Given the description of an element on the screen output the (x, y) to click on. 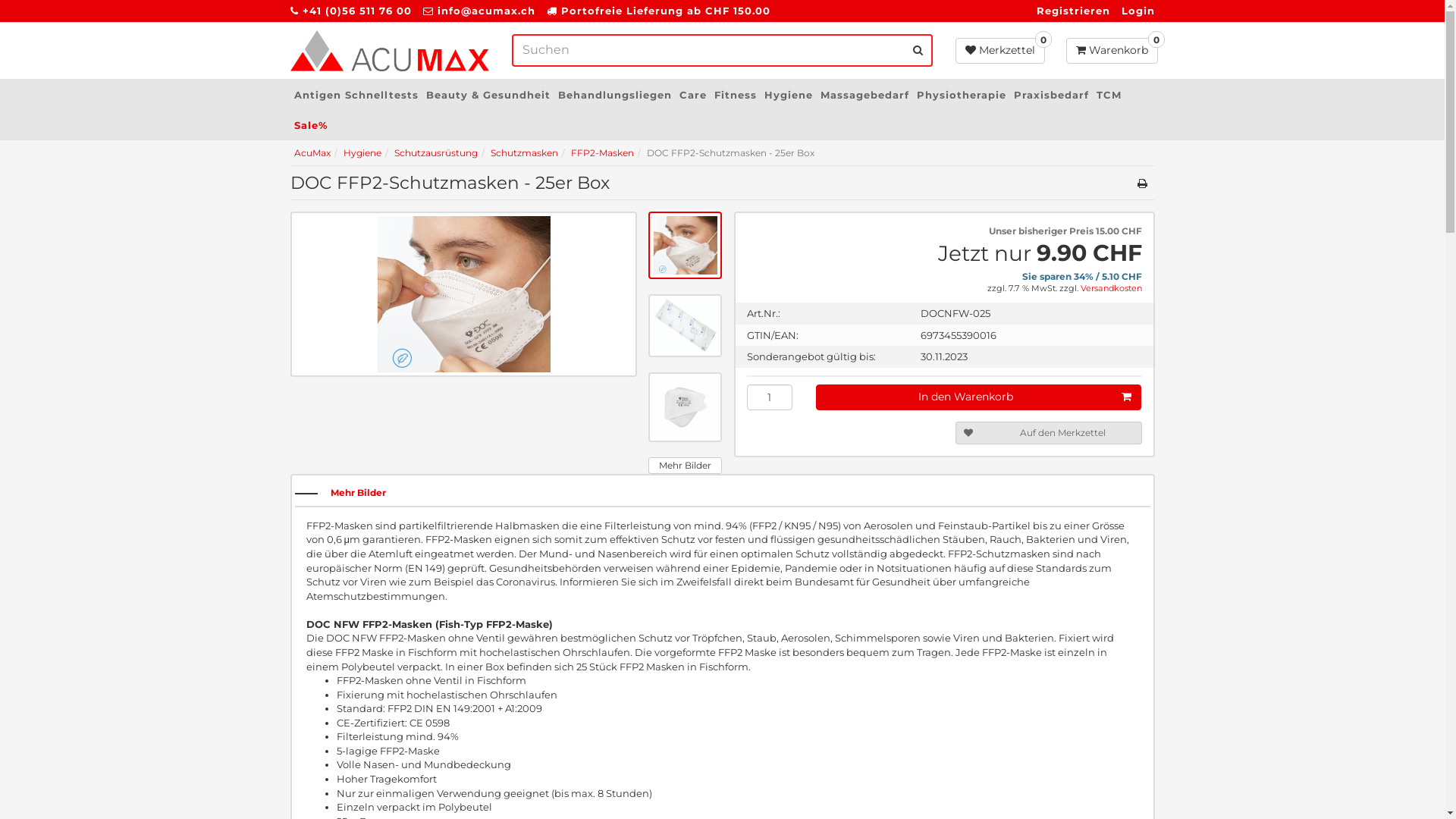
Praxisbedarf Element type: text (1051, 94)
Behandlungsliegen Element type: text (613, 94)
DOC FFP2-Schutzmasken - 25er Box Element type: hover (462, 293)
0
Warenkorb Element type: text (1111, 50)
Antigen Schnelltests Element type: text (355, 94)
DOC FFP2-Schutzmasken - 25er Box Element type: hover (685, 325)
Hygiene Element type: text (787, 94)
Versandkosten Element type: text (1110, 287)
Mehr Bilder Element type: text (357, 492)
Beauty & Gesundheit Element type: text (487, 94)
Massagebedarf Element type: text (863, 94)
TCM Element type: text (1108, 94)
Merkzettel
0 Element type: text (999, 50)
Care Element type: text (691, 94)
FFP2-Masken Element type: text (601, 152)
Registrieren Element type: text (1072, 10)
Mehr Bilder Element type: text (685, 465)
Schutzmasken Element type: text (523, 152)
Auf den Merkzettel Element type: text (1048, 432)
Fitness Element type: text (734, 94)
DOC FFP2-Schutzmasken - 25er Box Element type: hover (685, 407)
AcuMax Element type: text (312, 152)
In den Warenkorb Element type: text (978, 397)
Hygiene Element type: text (361, 152)
DOC FFP2-Schutzmasken - 25er Box Element type: hover (685, 245)
info@acumax.ch Element type: text (485, 10)
Login Element type: text (1137, 10)
Sale% Element type: text (309, 124)
Physiotherapie Element type: text (961, 94)
